Given the description of an element on the screen output the (x, y) to click on. 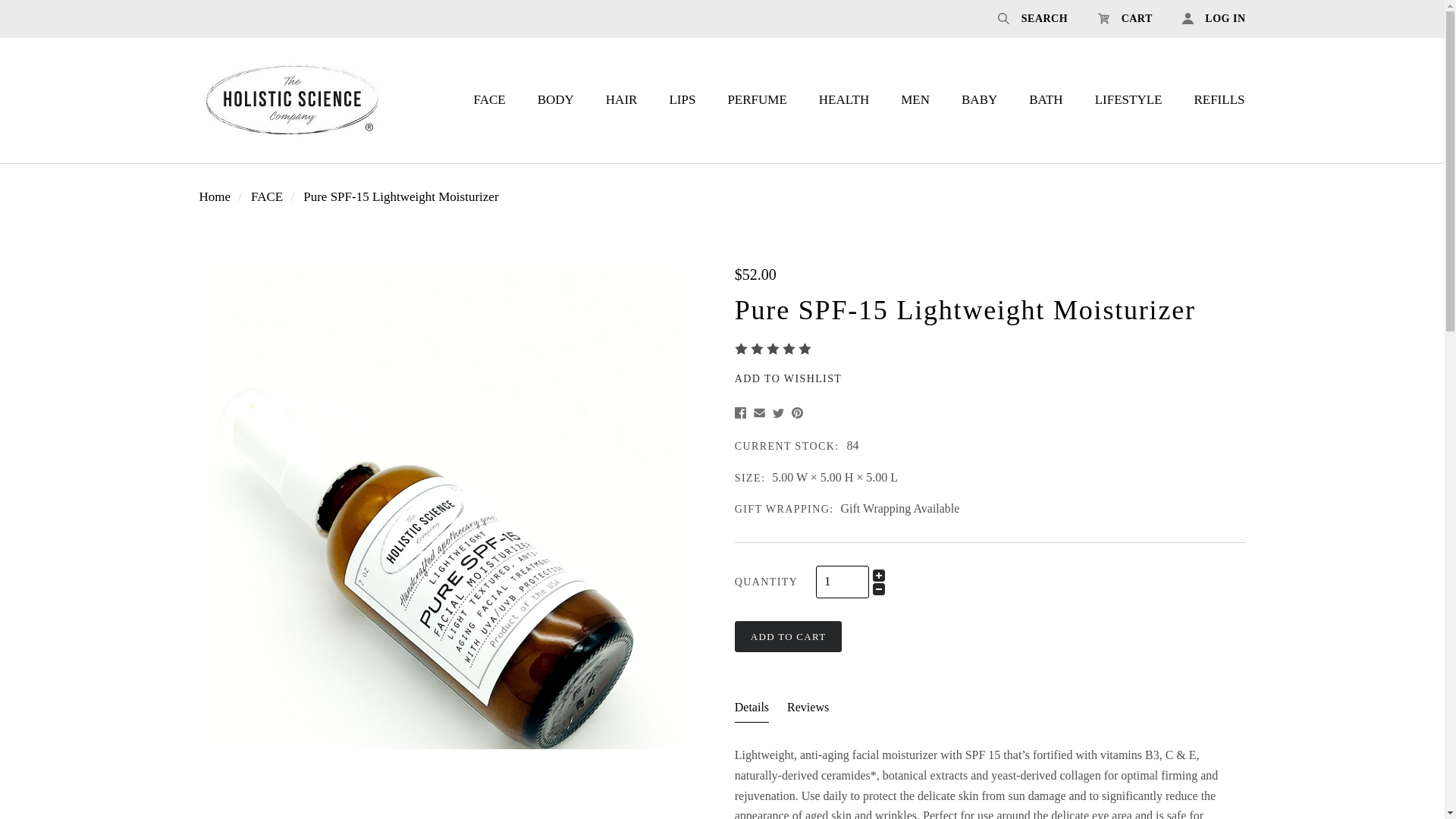
HEALTH (844, 99)
SEARCH (1032, 17)
Reviews (807, 710)
Pure SPF-15 Lightweight Moisturizer (399, 196)
ADD TO WISHLIST (789, 378)
FACE (266, 196)
MEN (914, 99)
PERFUME (756, 99)
LIFESTYLE (1128, 99)
BATH (1045, 99)
